Given the description of an element on the screen output the (x, y) to click on. 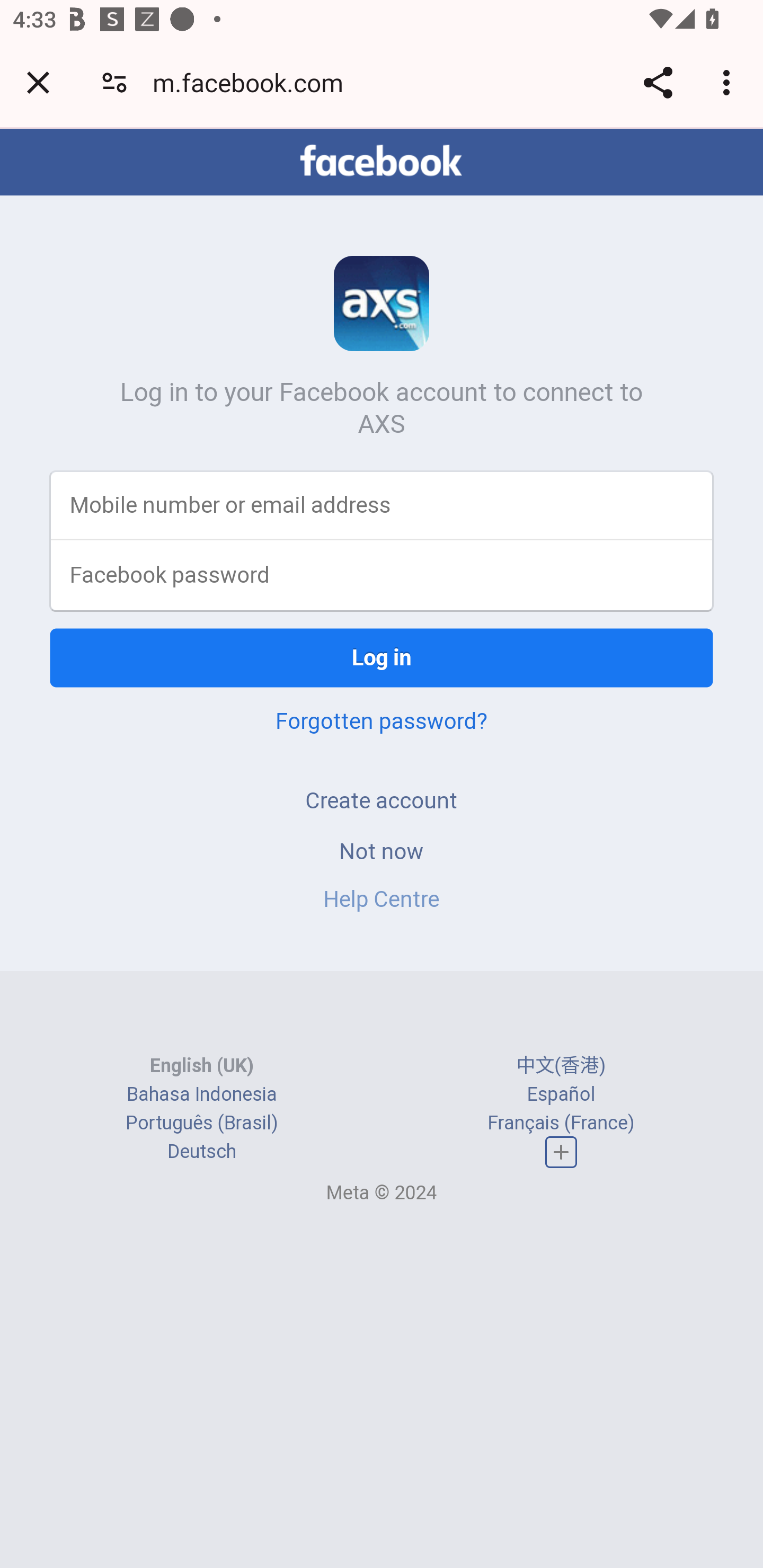
Close tab (38, 82)
Share (657, 82)
Customize and control Google Chrome (729, 82)
Connection is secure (114, 81)
m.facebook.com (254, 81)
facebook (381, 160)
Log in (381, 657)
Forgotten password? (381, 720)
Create account (381, 800)
Not now (381, 850)
Help Centre (381, 898)
中文(香港) (561, 1065)
Bahasa Indonesia (201, 1093)
Español (560, 1093)
Português (Brasil) (201, 1122)
Français (France) (560, 1122)
Complete list of languages (560, 1152)
Deutsch (201, 1151)
